Given the description of an element on the screen output the (x, y) to click on. 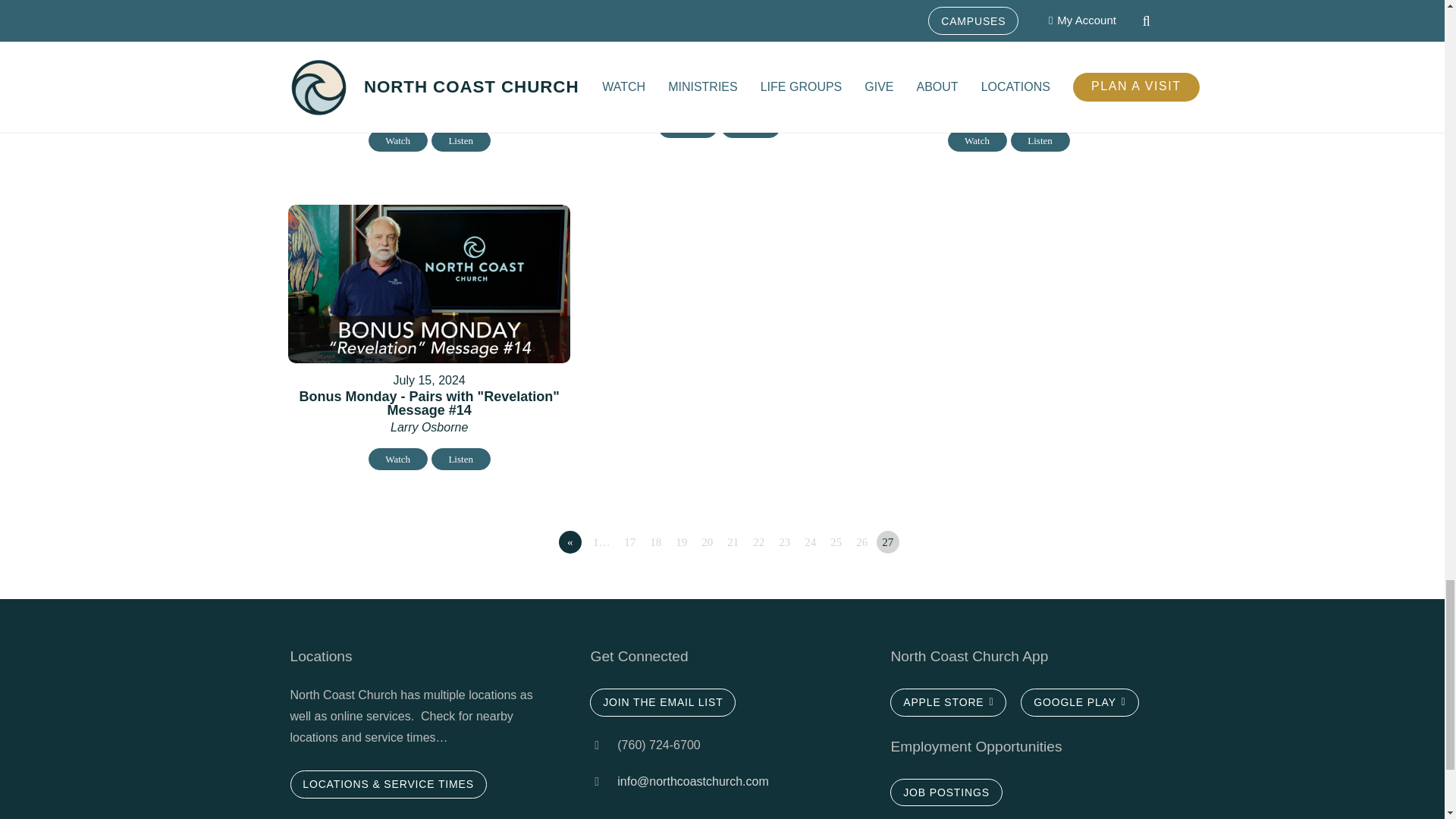
Google Store (1079, 701)
YouTube (731, 813)
Campuses, Service Times, Locations (945, 791)
call us at 760-724-6700 (603, 744)
Apple Store (947, 701)
Subscribe (662, 701)
Facebook (674, 813)
Instagram (617, 813)
Campuses, Service Times, Locations (387, 783)
call us at 760-724-6700 (603, 781)
